Given the description of an element on the screen output the (x, y) to click on. 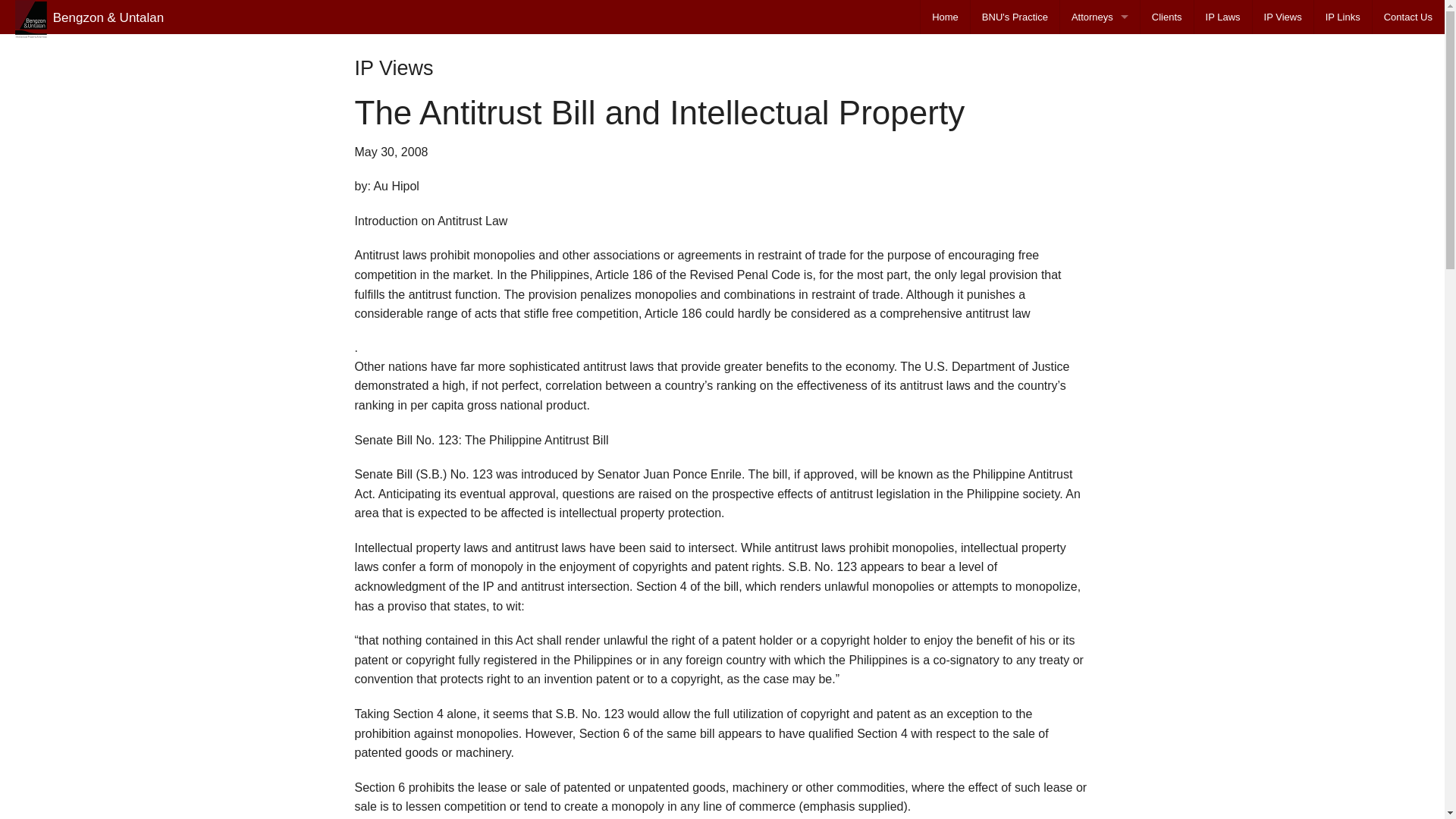
IP Views (1282, 17)
BNU's Practice (1015, 17)
Clients (1166, 17)
Samantha Wesley K. Rosales (1099, 173)
Contact Us (1408, 17)
Michael Z. Untalan (1099, 105)
IP Links (1342, 17)
Jonathan Q. Perez (1099, 139)
Attorneys (1099, 17)
Anthony D. Bengzon (1099, 71)
Home (944, 17)
IP Laws (1222, 17)
